Given the description of an element on the screen output the (x, y) to click on. 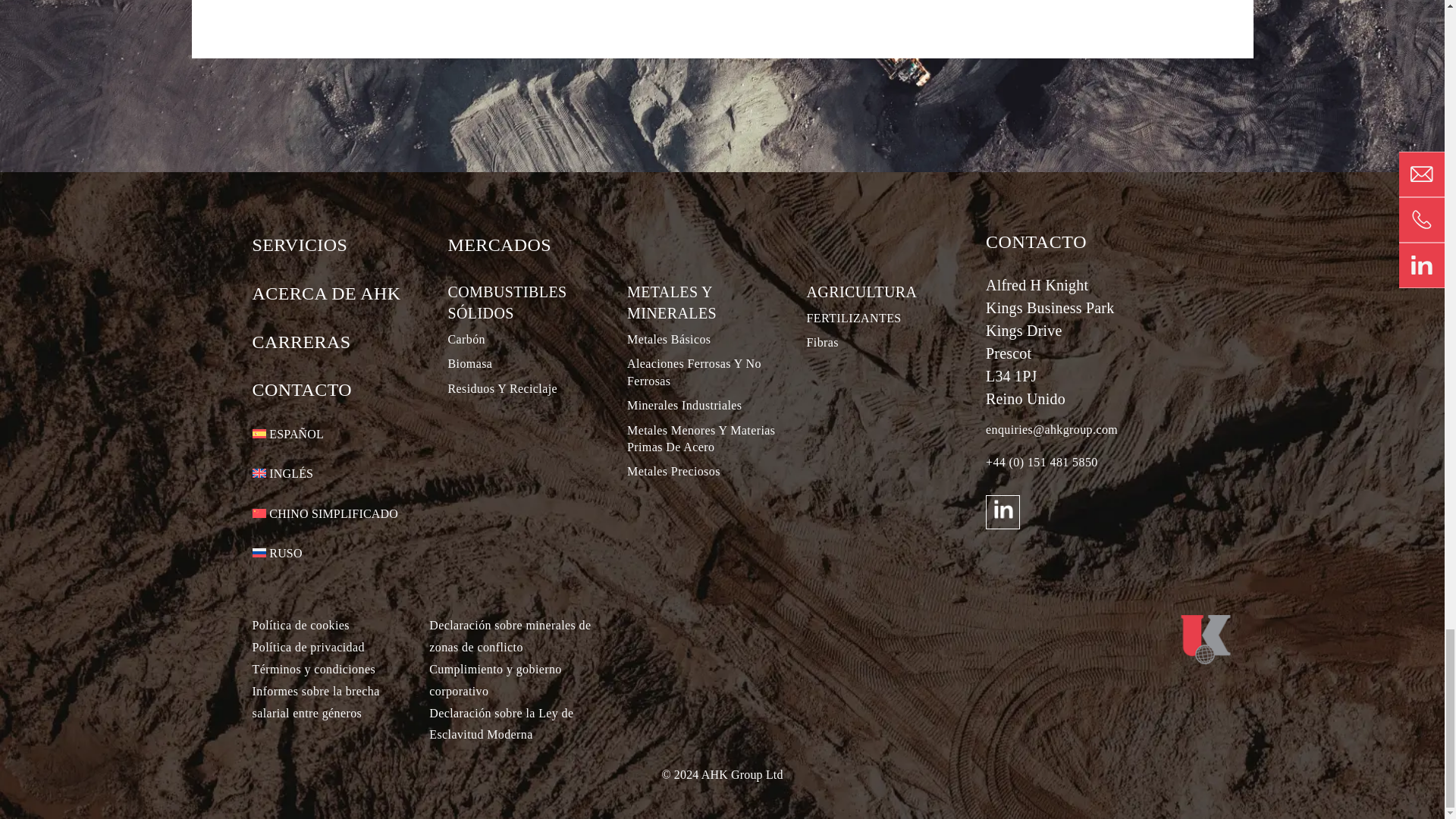
Chino simplificado (324, 514)
Ruso (276, 553)
